Given the description of an element on the screen output the (x, y) to click on. 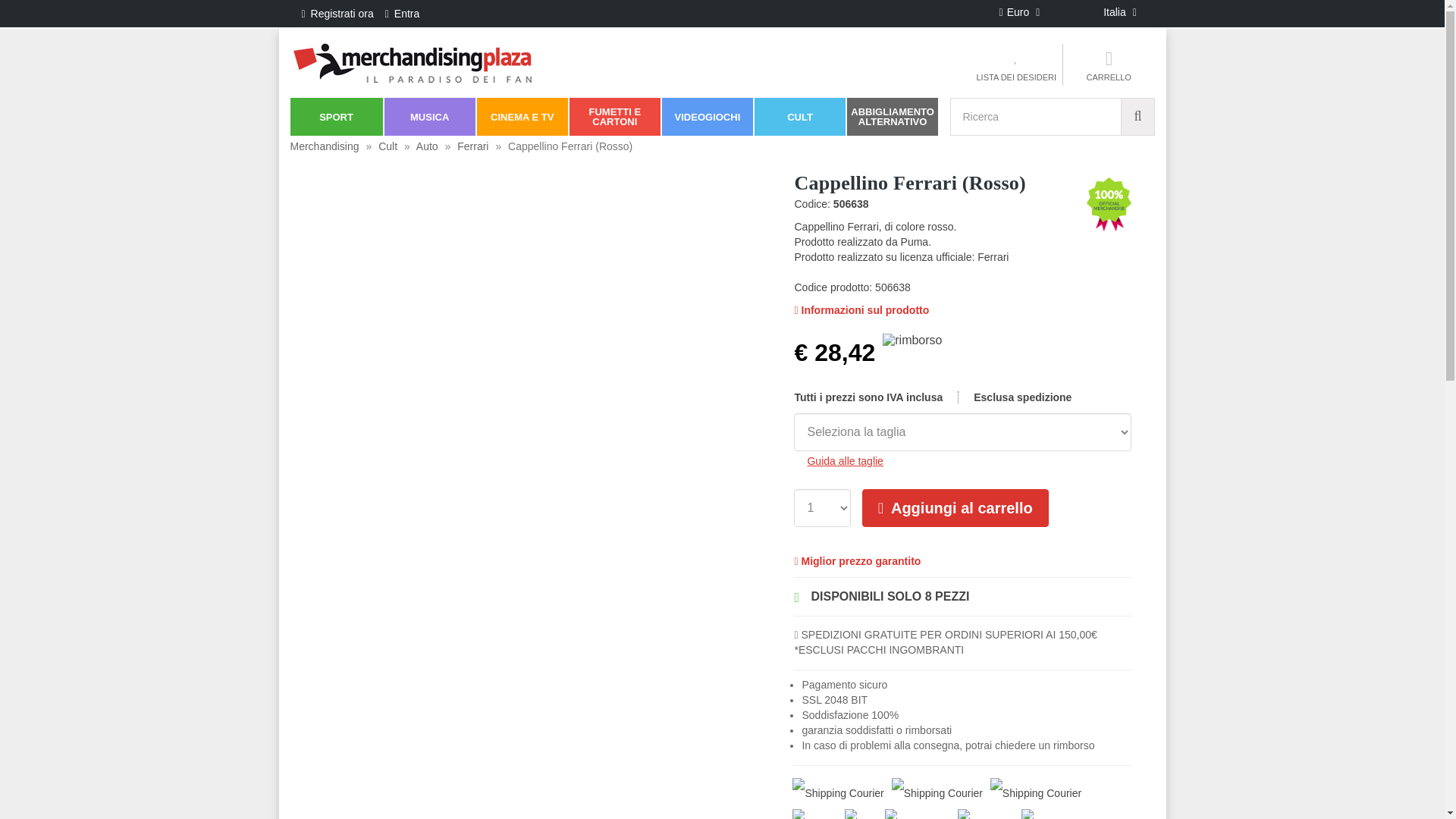
Euro (1017, 12)
Entra (407, 13)
Italia (1111, 12)
Aggiungi al carrello (954, 507)
MerchandisingPlaza (410, 61)
Register (303, 14)
Registrati ora (343, 13)
